Given the description of an element on the screen output the (x, y) to click on. 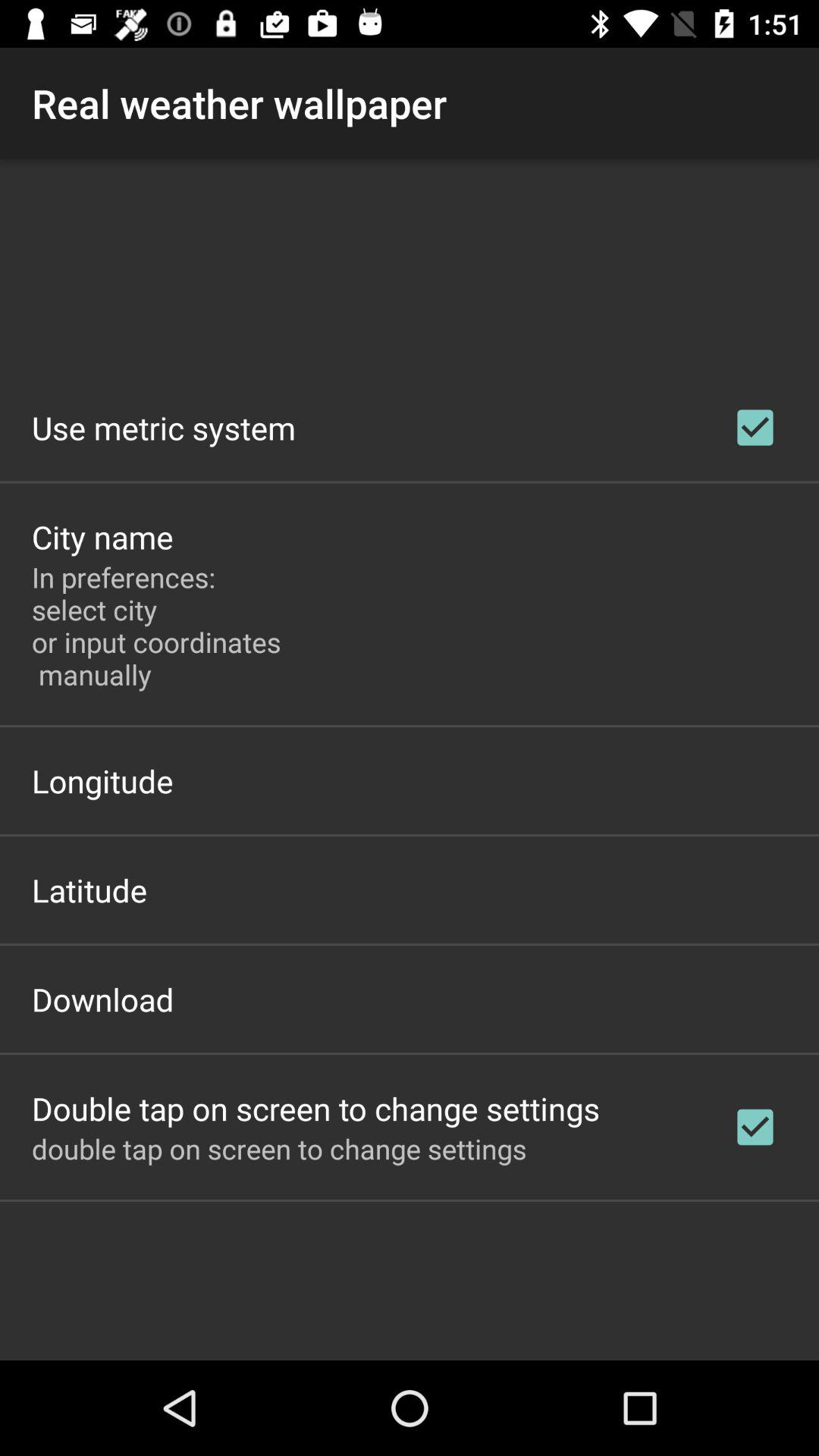
swipe to the longitude (102, 780)
